Given the description of an element on the screen output the (x, y) to click on. 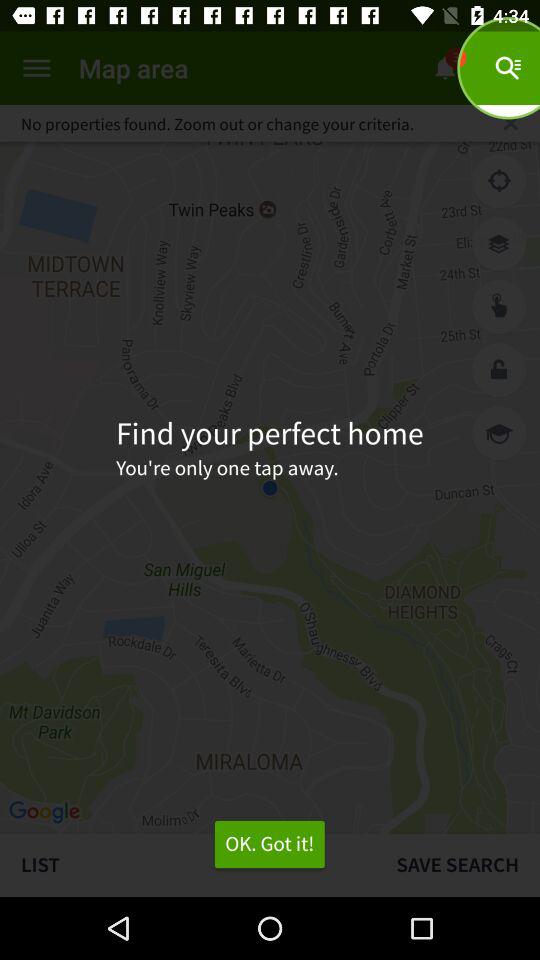
center (499, 181)
